Given the description of an element on the screen output the (x, y) to click on. 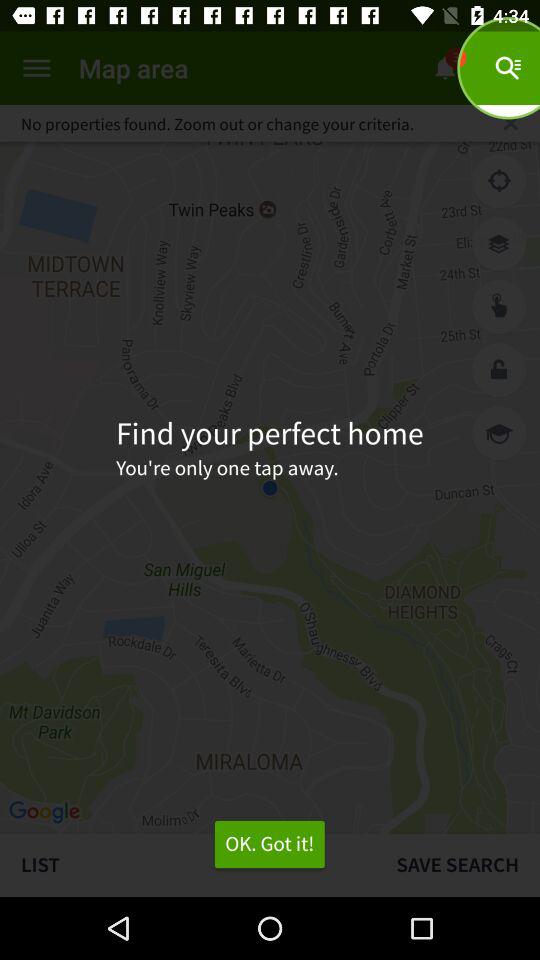
center (499, 181)
